Given the description of an element on the screen output the (x, y) to click on. 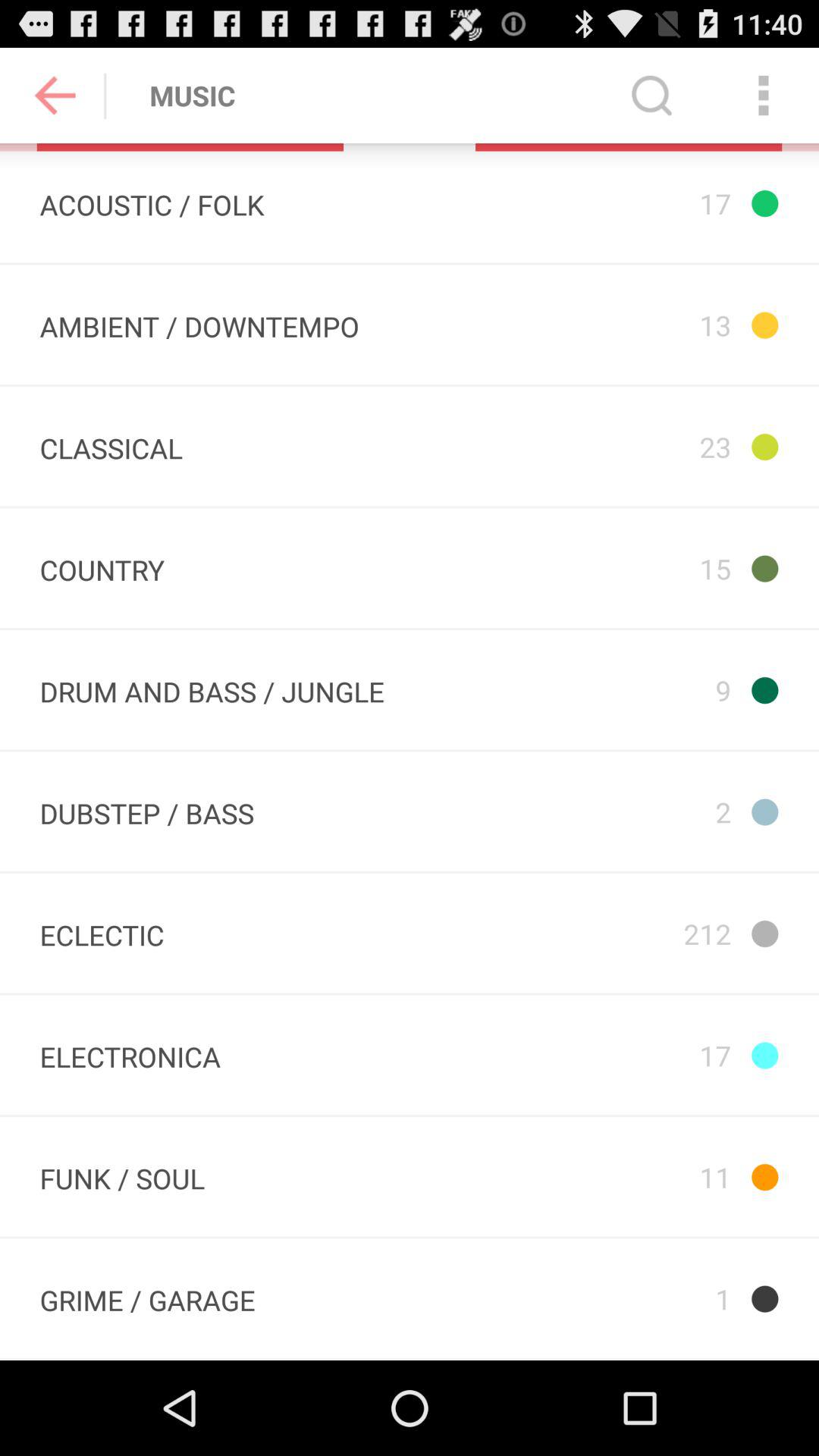
select the 13 (644, 324)
